Given the description of an element on the screen output the (x, y) to click on. 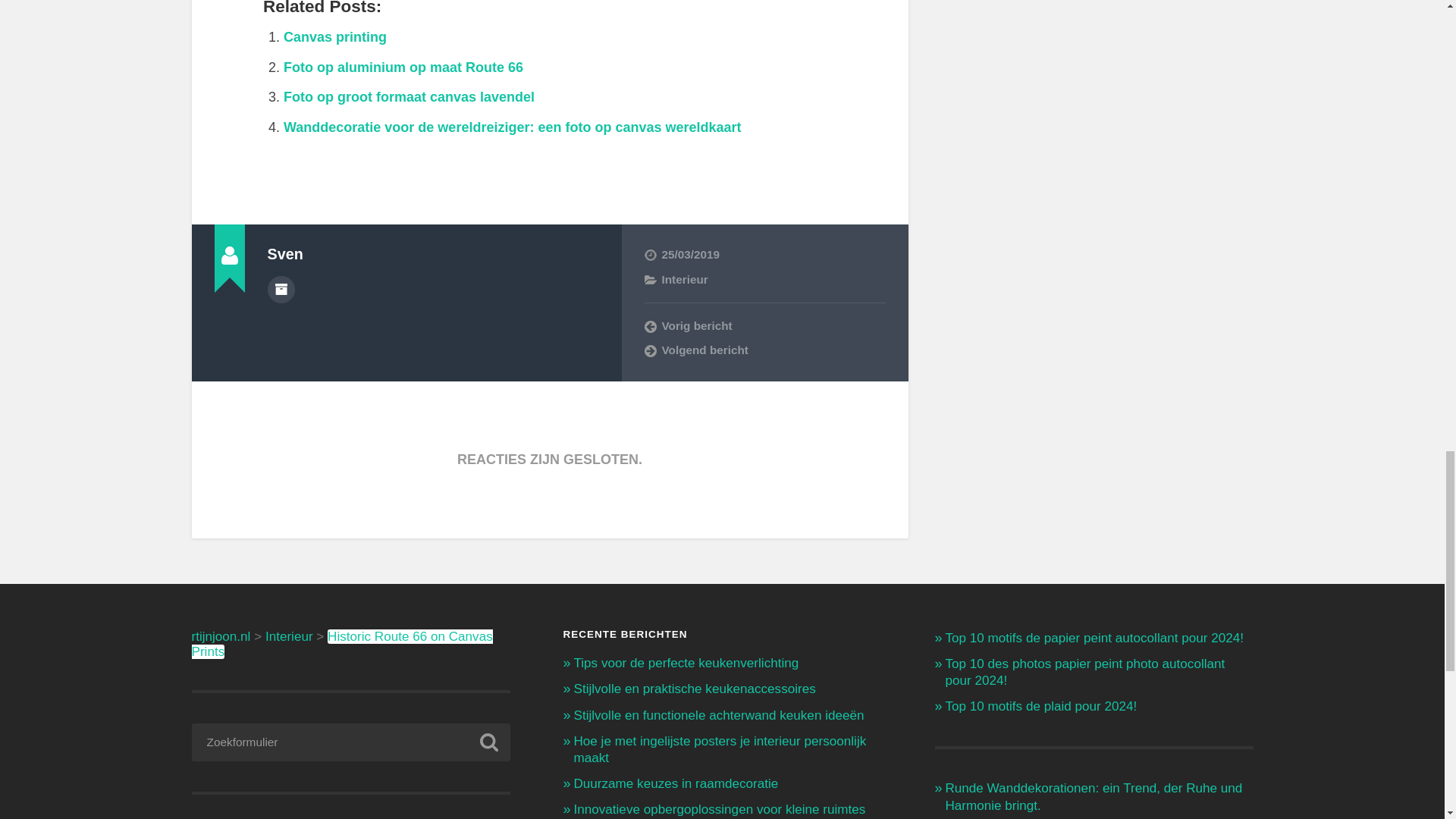
Zoeken (488, 741)
Canvas printing (335, 37)
Foto op aluminium op maat Route 66 (402, 67)
Go to the Interieur Categorie archives. (288, 636)
Foto op groot formaat canvas lavendel (408, 96)
Foto op aluminium op maat Route 66 (402, 67)
Canvas printing (335, 37)
Ga naar rtijnjoon.nl. (220, 636)
Ga naar Historic Route 66 on Canvas Prints. (341, 644)
Foto op groot formaat canvas lavendel (408, 96)
Auteur Archief (280, 289)
Zoeken (488, 741)
